Given the description of an element on the screen output the (x, y) to click on. 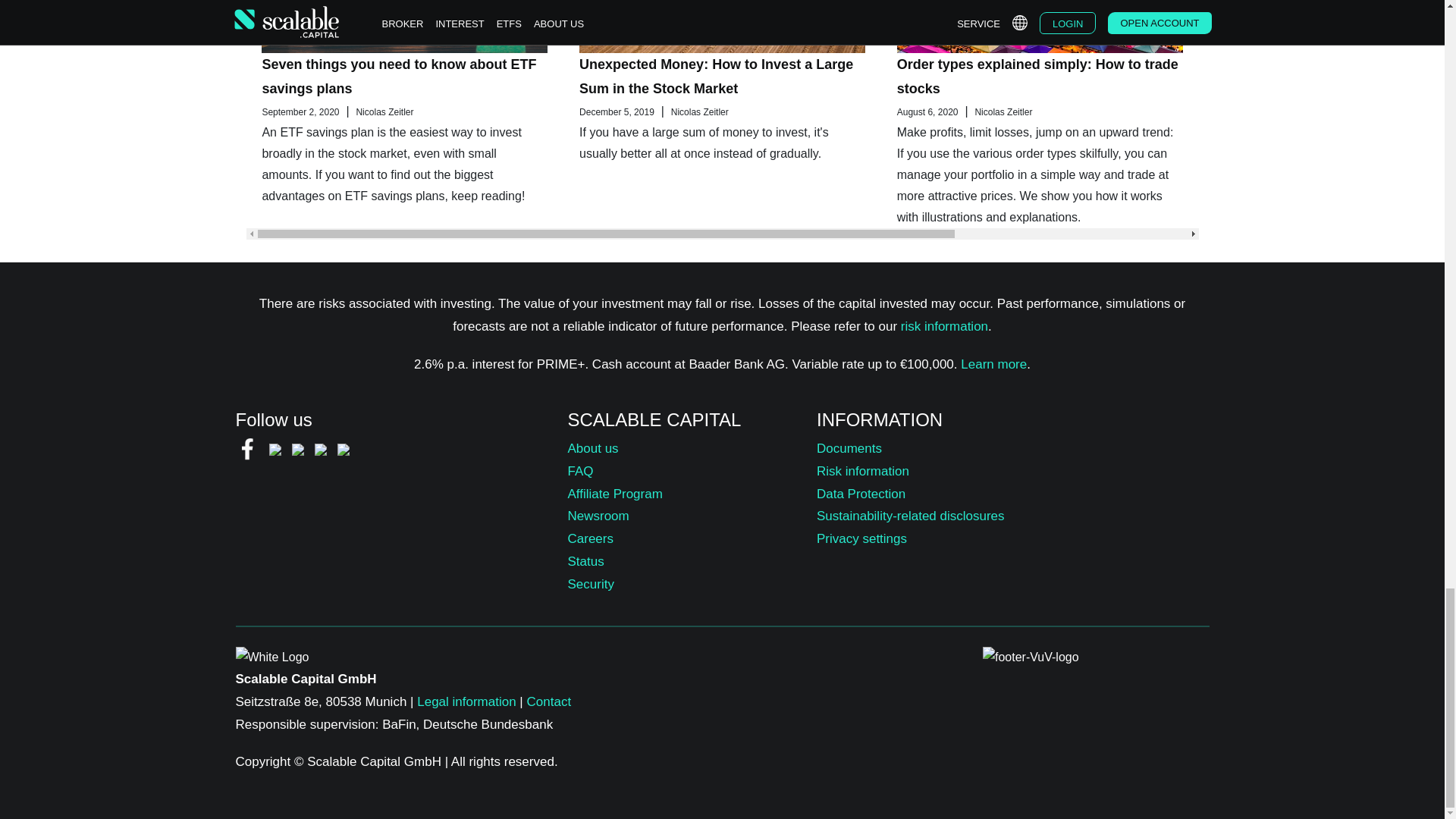
Seven things you need to know about ETF savings plans (398, 76)
